Given the description of an element on the screen output the (x, y) to click on. 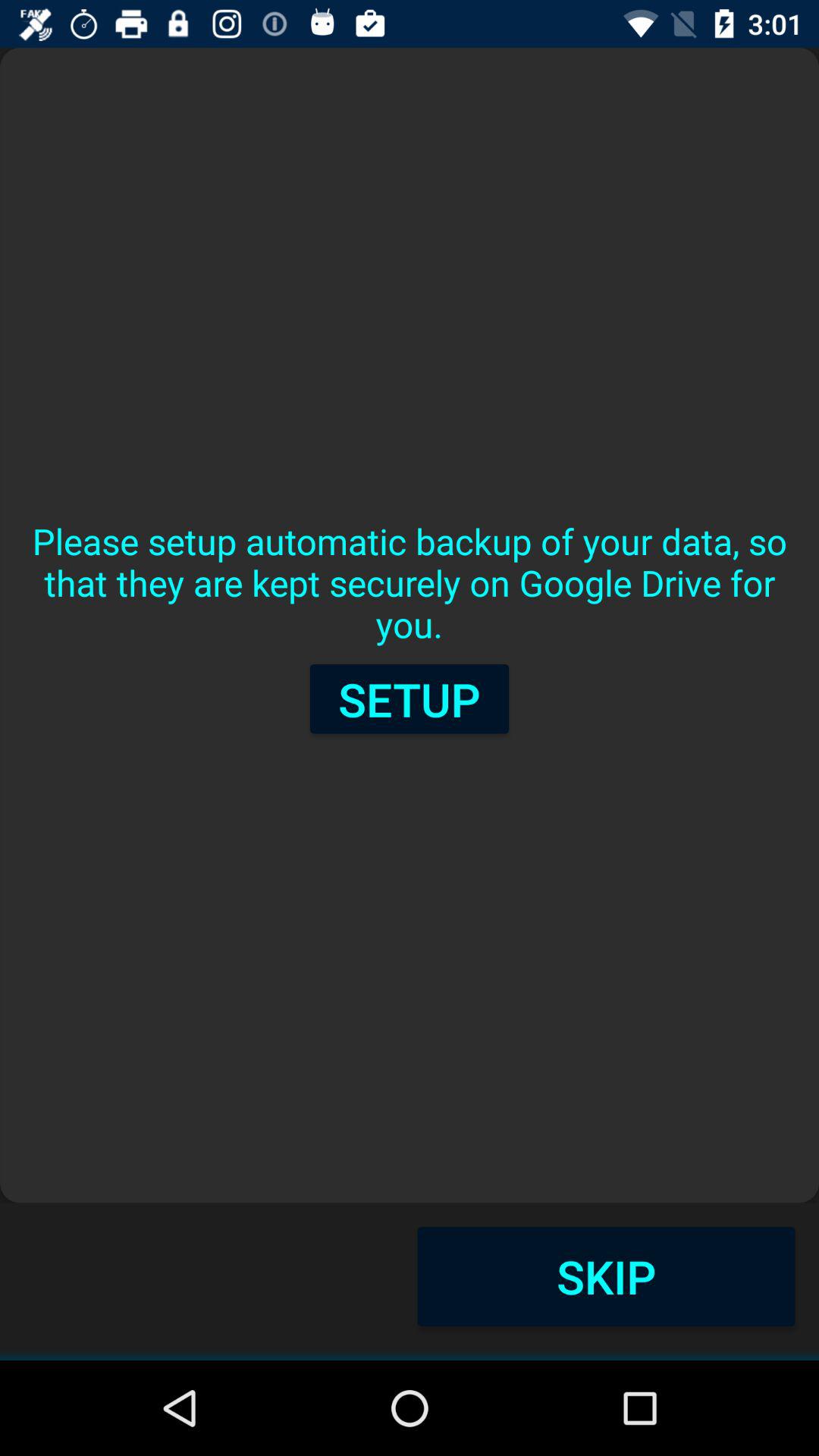
swipe to the skip item (606, 1276)
